Given the description of an element on the screen output the (x, y) to click on. 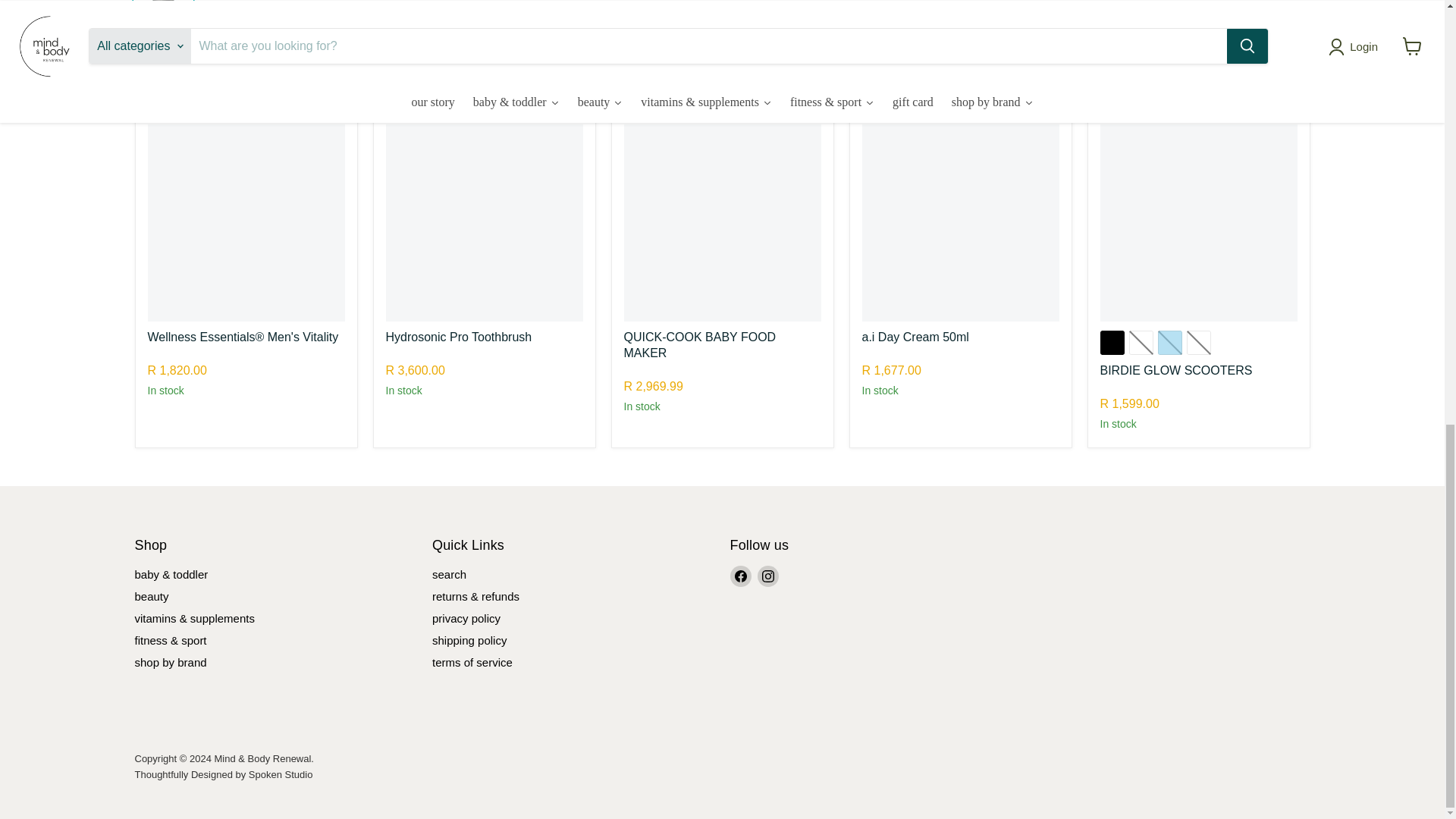
Metagenics (171, 351)
Curaprox (405, 351)
Tommee Tippee (658, 367)
Nimue (875, 351)
Birdie Scooters (1132, 385)
